Given the description of an element on the screen output the (x, y) to click on. 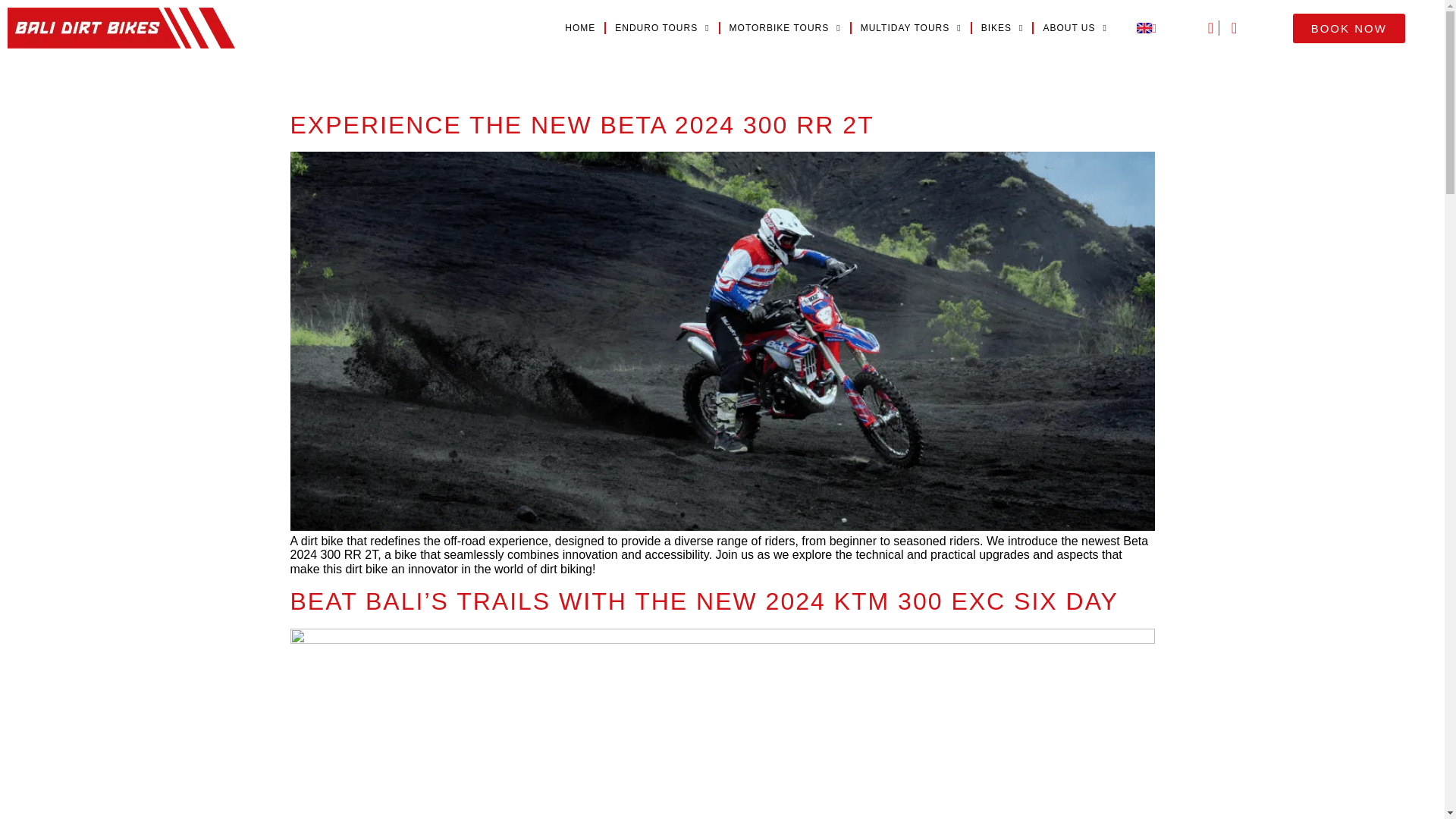
MOTORBIKE TOURS (785, 27)
HOME (580, 27)
ABOUT US (1074, 27)
BIKES (1002, 27)
ENDURO TOURS (661, 27)
MULTIDAY TOURS (911, 27)
